Given the description of an element on the screen output the (x, y) to click on. 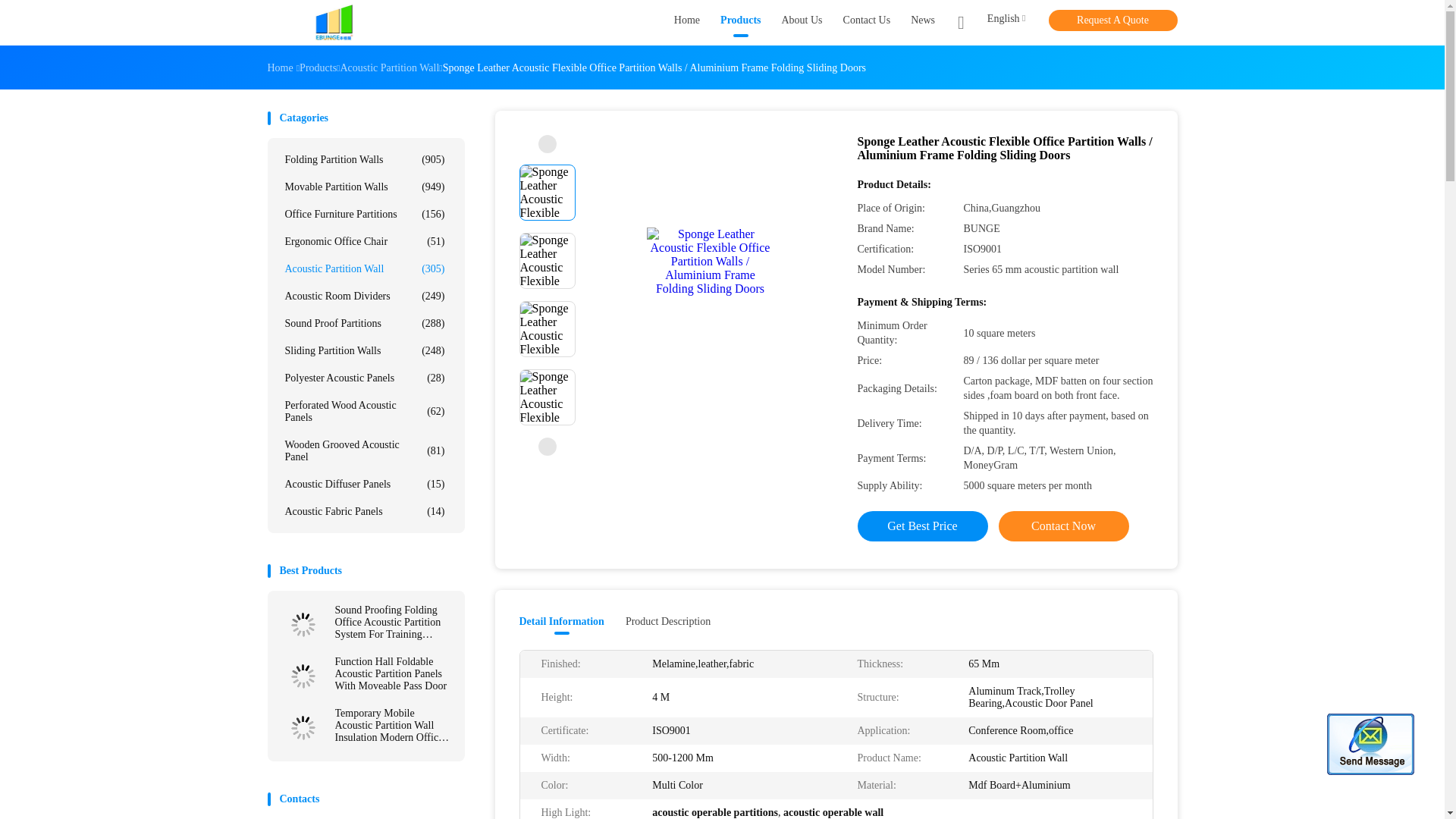
About Us (801, 22)
Products (740, 22)
Guangdong Bunge Building Material Industrial Co., Ltd (333, 22)
Home (687, 22)
Contact Us (867, 22)
News (922, 22)
